Given the description of an element on the screen output the (x, y) to click on. 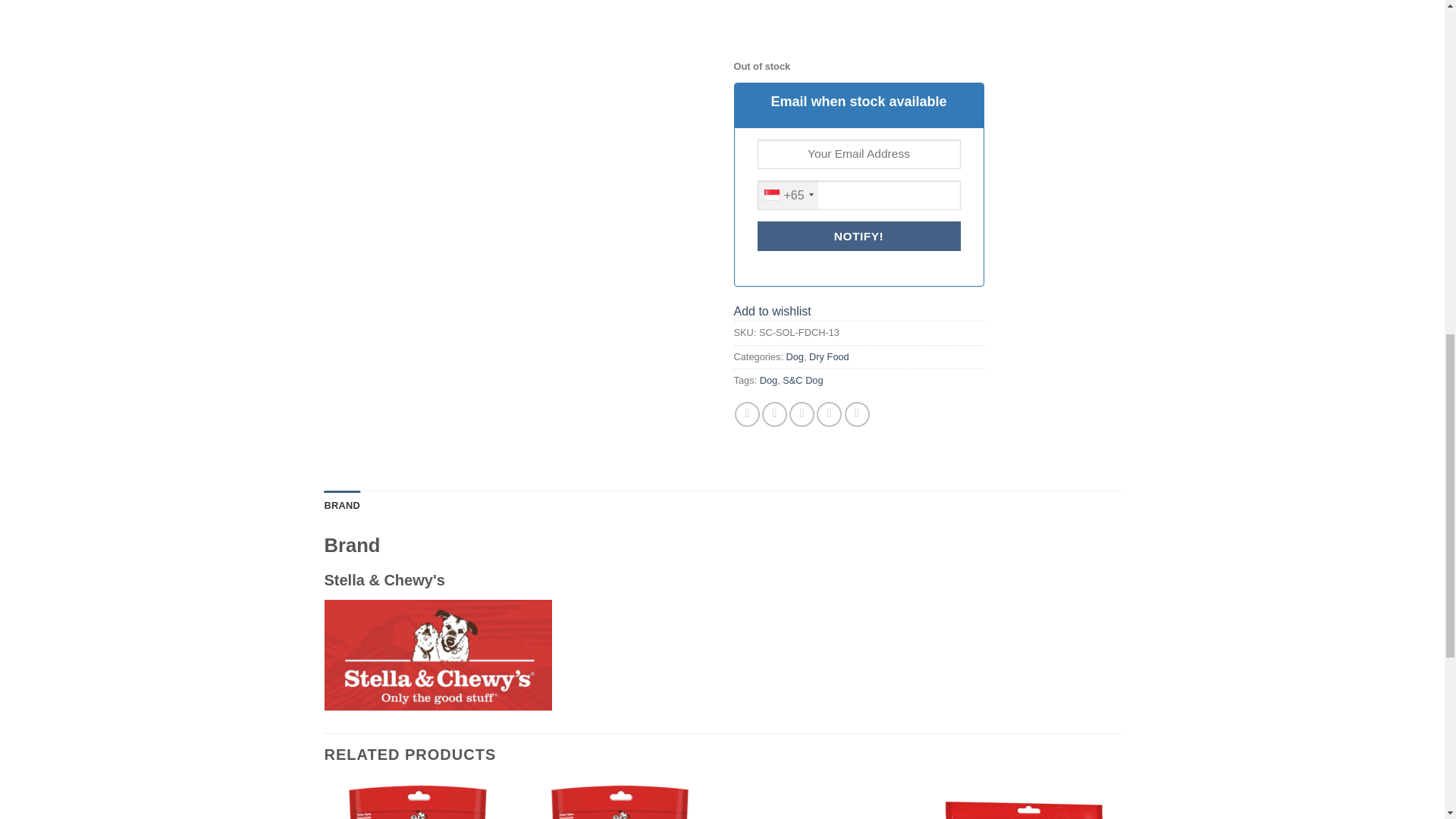
Notify! (858, 235)
Add to wishlist (771, 310)
Dog (768, 379)
Dry Food (828, 356)
Notify! (858, 235)
Dog (794, 356)
